Given the description of an element on the screen output the (x, y) to click on. 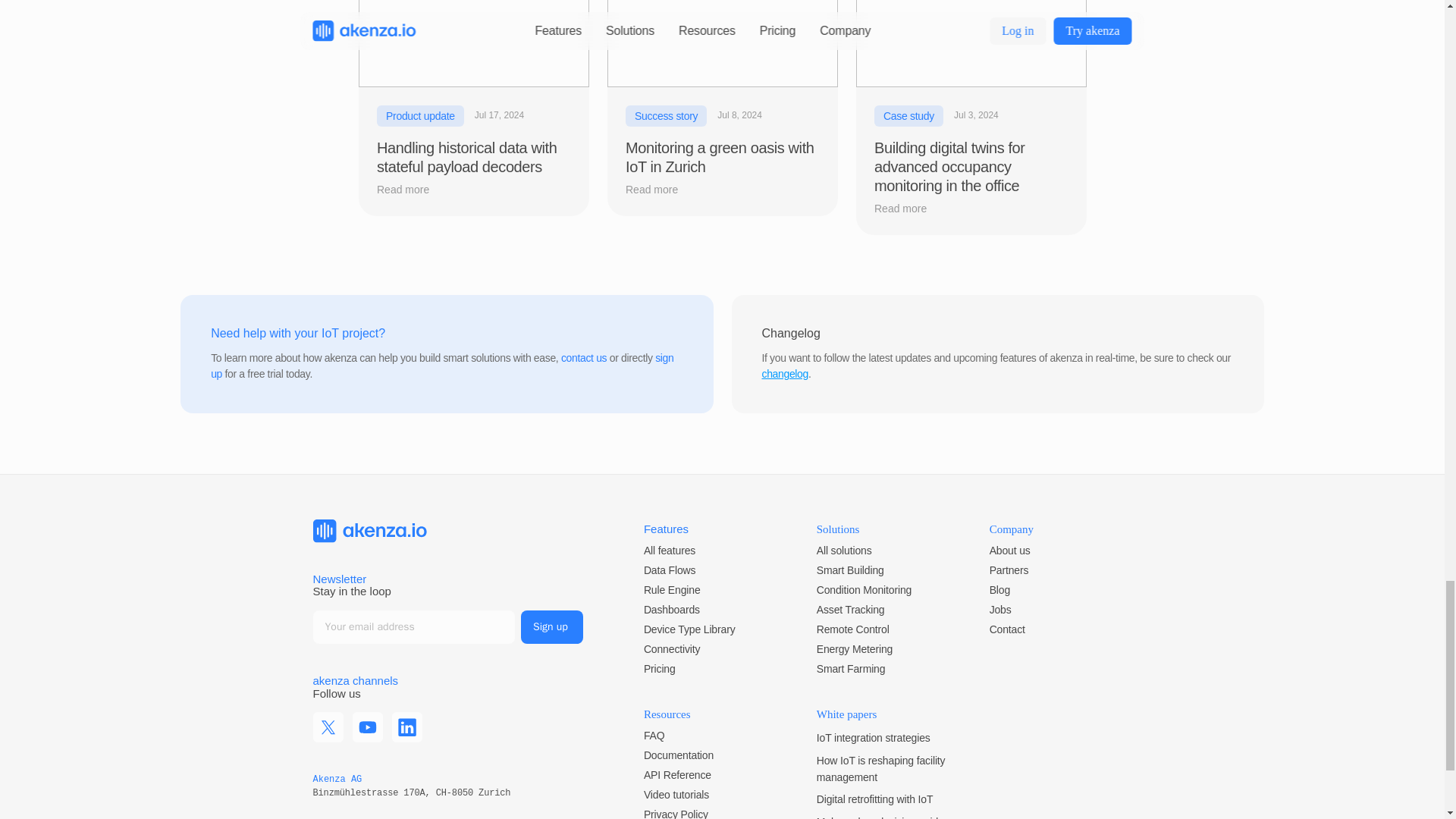
Device Type Library (689, 629)
Data Flows (669, 570)
Dashboards (671, 609)
Pricing (659, 668)
All features (669, 550)
Success story (665, 115)
Rule Engine (671, 589)
Read more (659, 189)
sign up (444, 366)
Product update (419, 115)
Read more (410, 189)
Case study (907, 115)
Sign up (552, 626)
Sign up (552, 626)
